Given the description of an element on the screen output the (x, y) to click on. 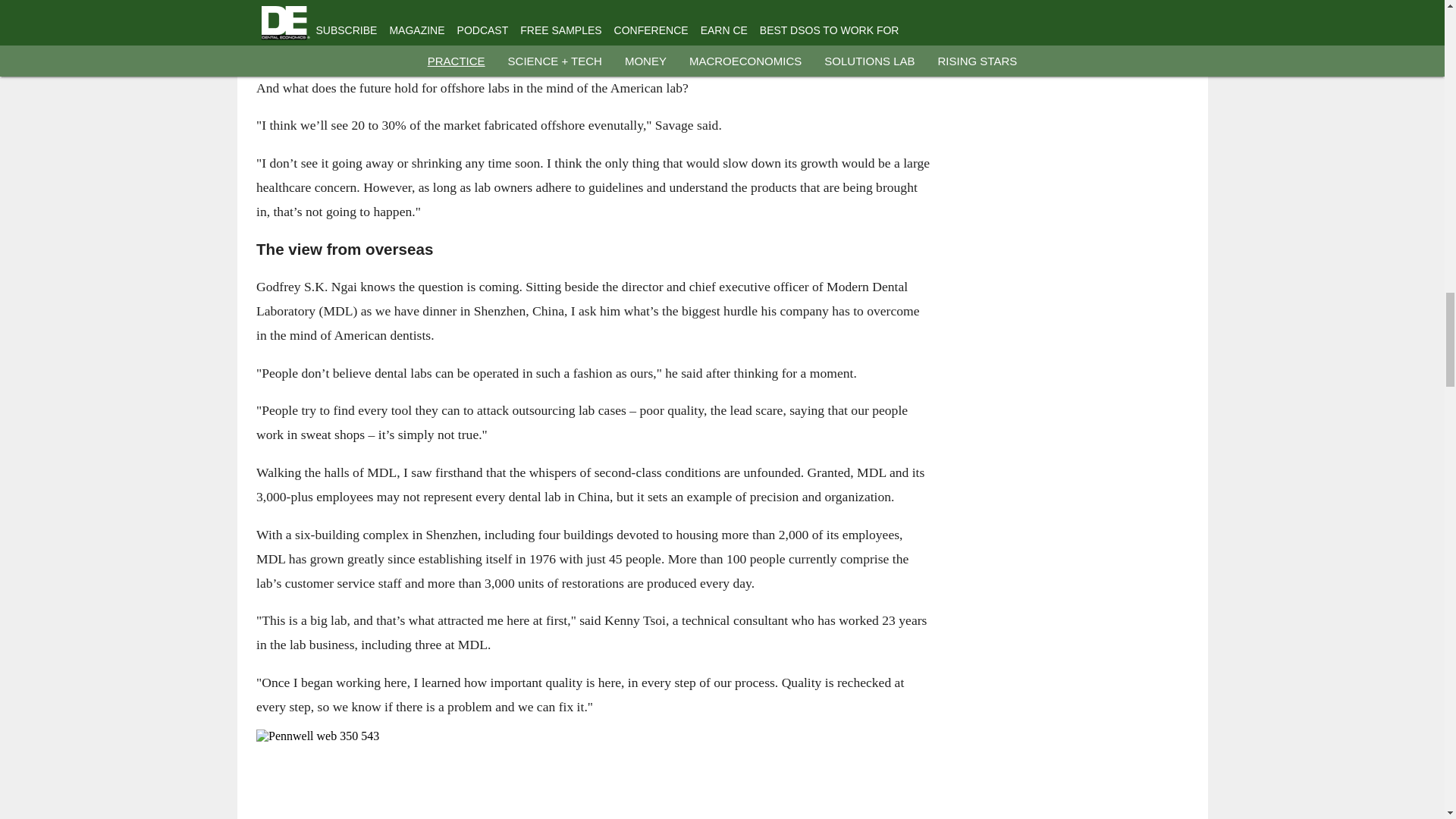
Pennwell web 350 543 (593, 774)
